Given the description of an element on the screen output the (x, y) to click on. 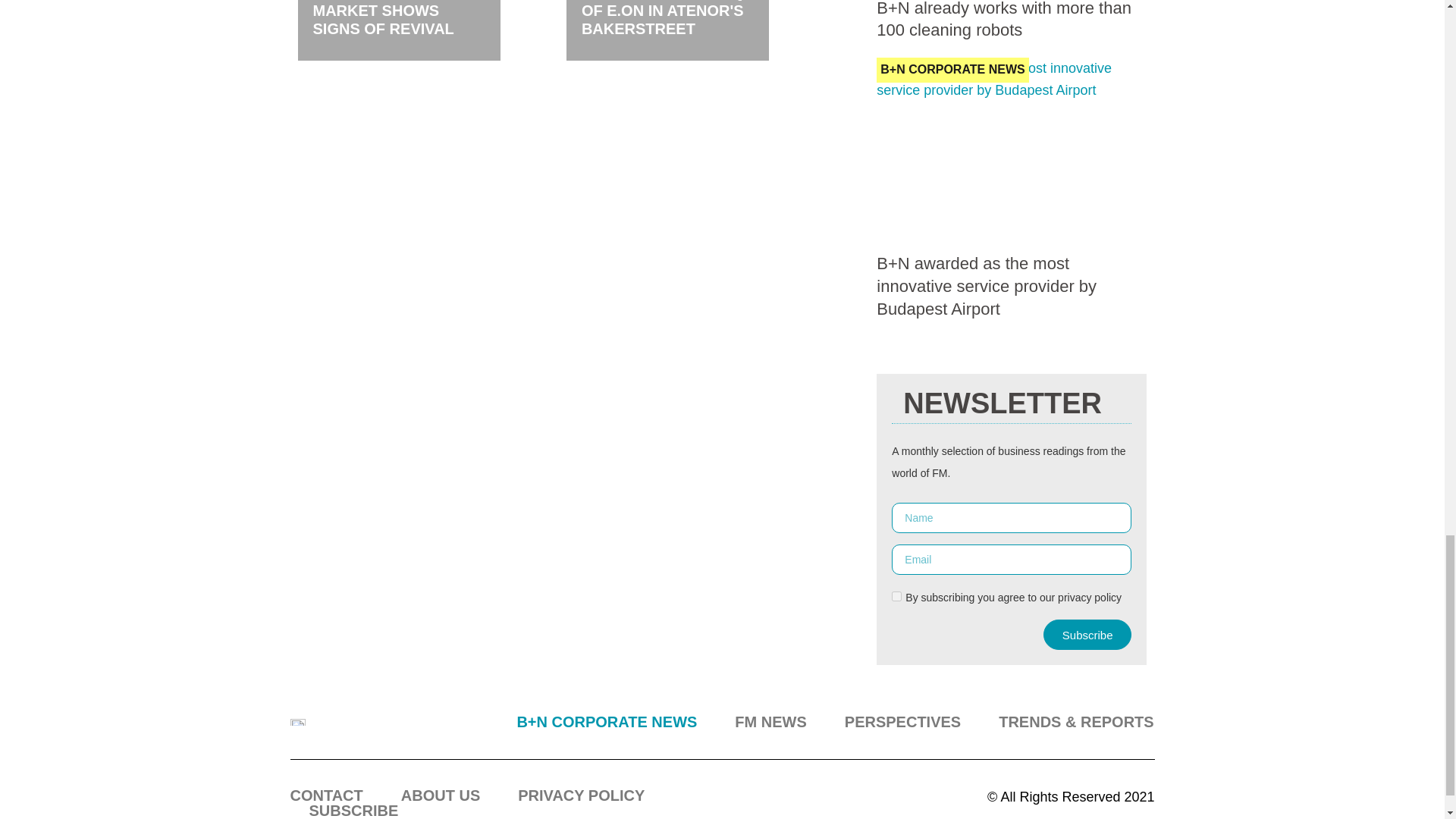
HERE IS THE NEW HQ OF E.ON IN ATENOR'S BAKERSTREET (662, 18)
POLISH INVESTMENT MARKET SHOWS SIGNS OF REVIVAL (391, 18)
on (896, 596)
Subscribe (1087, 634)
